Given the description of an element on the screen output the (x, y) to click on. 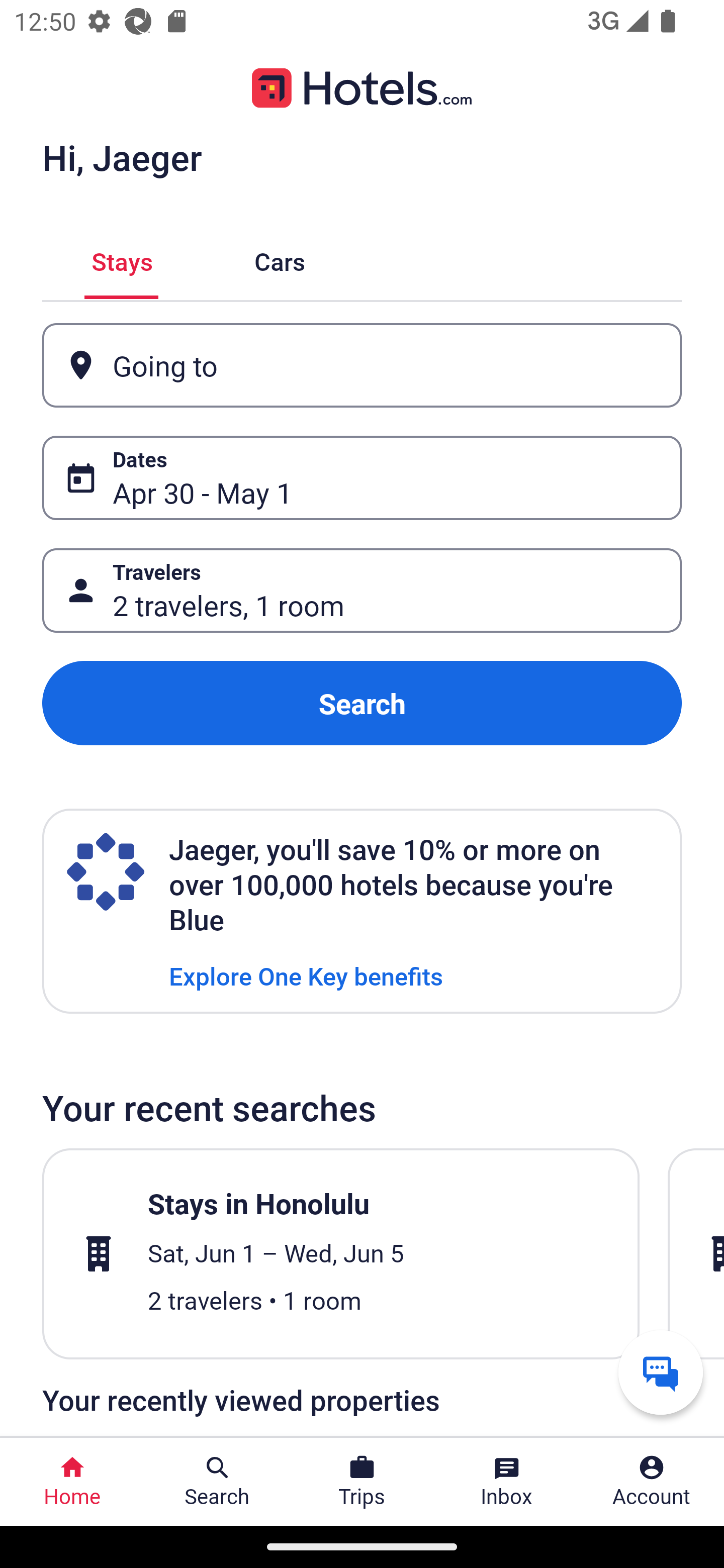
Hi, Jaeger (121, 156)
Cars (279, 259)
Going to Button (361, 365)
Dates Button Apr 30 - May 1 (361, 477)
Travelers Button 2 travelers, 1 room (361, 590)
Search (361, 702)
Get help from a virtual agent (660, 1371)
Search Search Button (216, 1481)
Trips Trips Button (361, 1481)
Inbox Inbox Button (506, 1481)
Account Profile. Button (651, 1481)
